Given the description of an element on the screen output the (x, y) to click on. 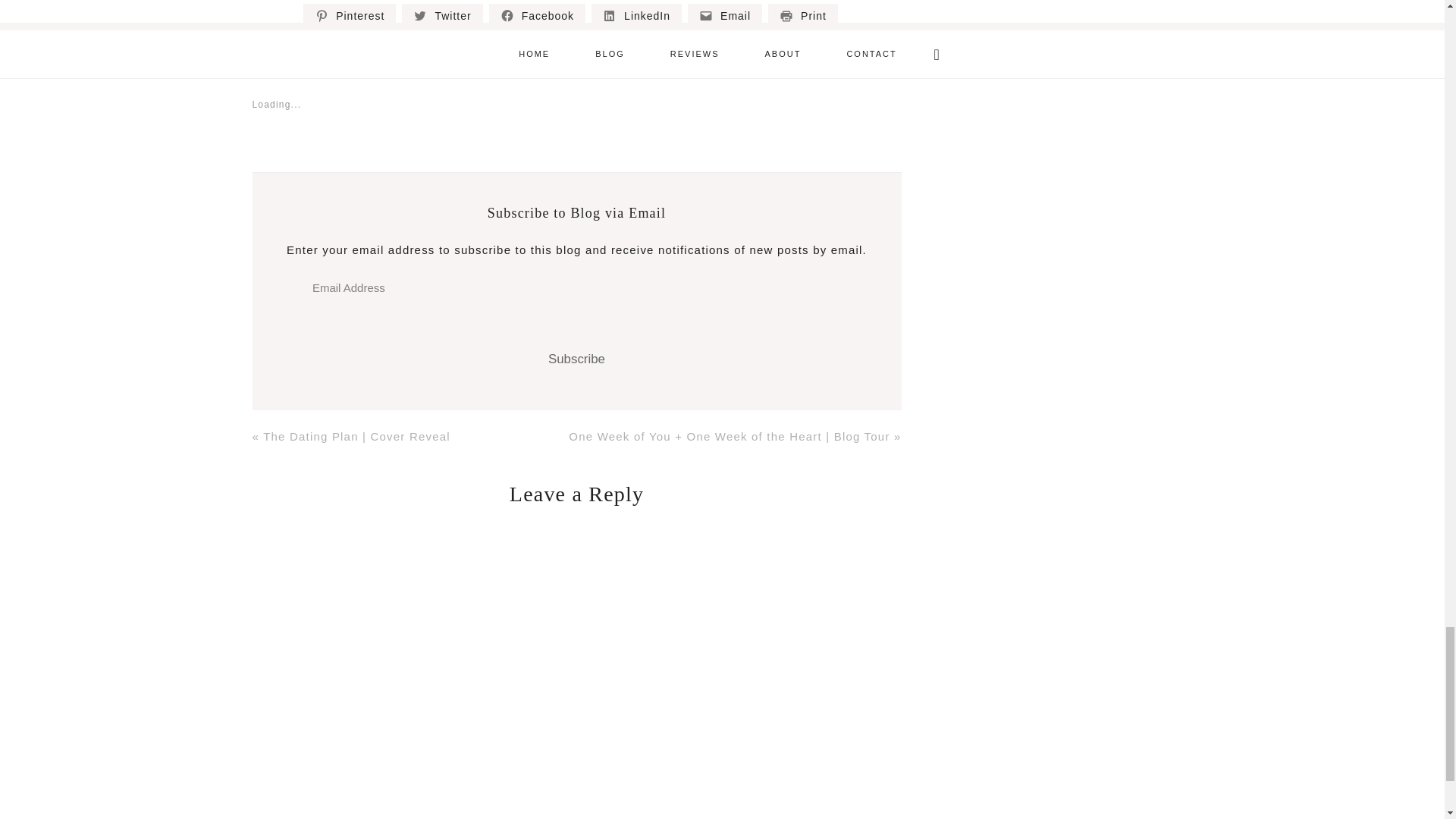
Click to share on Facebook (537, 16)
Click to share on Twitter (441, 16)
Click to share on Pinterest (349, 16)
Click to email a link to a friend (724, 16)
Click to print (803, 16)
Click to share on LinkedIn (636, 16)
